Given the description of an element on the screen output the (x, y) to click on. 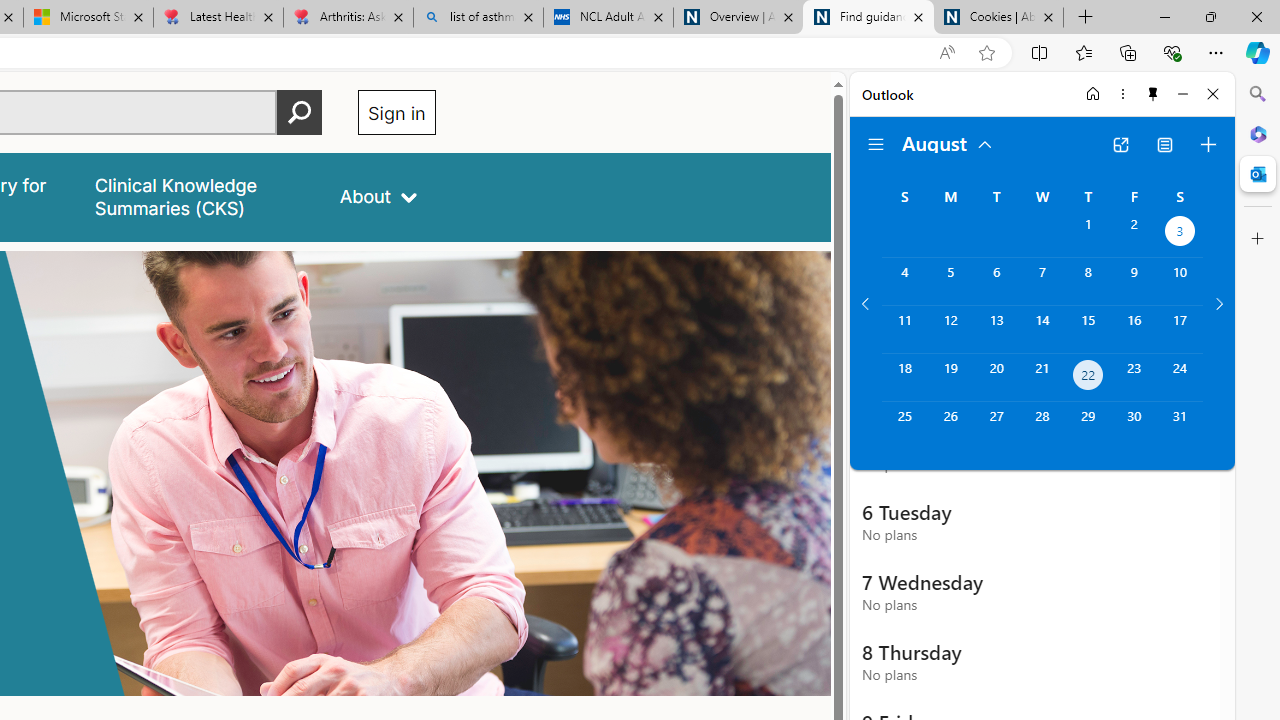
Thursday, August 22, 2024. Today.  (1088, 377)
Thursday, August 1, 2024.  (1088, 233)
Create event (1208, 144)
Saturday, August 3, 2024. Date selected.  (1180, 233)
Friday, August 30, 2024.  (1134, 425)
Tuesday, August 27, 2024.  (996, 425)
Friday, August 16, 2024.  (1134, 329)
Cookies | About | NICE (998, 17)
Perform search (299, 112)
Sunday, August 11, 2024.  (904, 329)
August (948, 141)
